Given the description of an element on the screen output the (x, y) to click on. 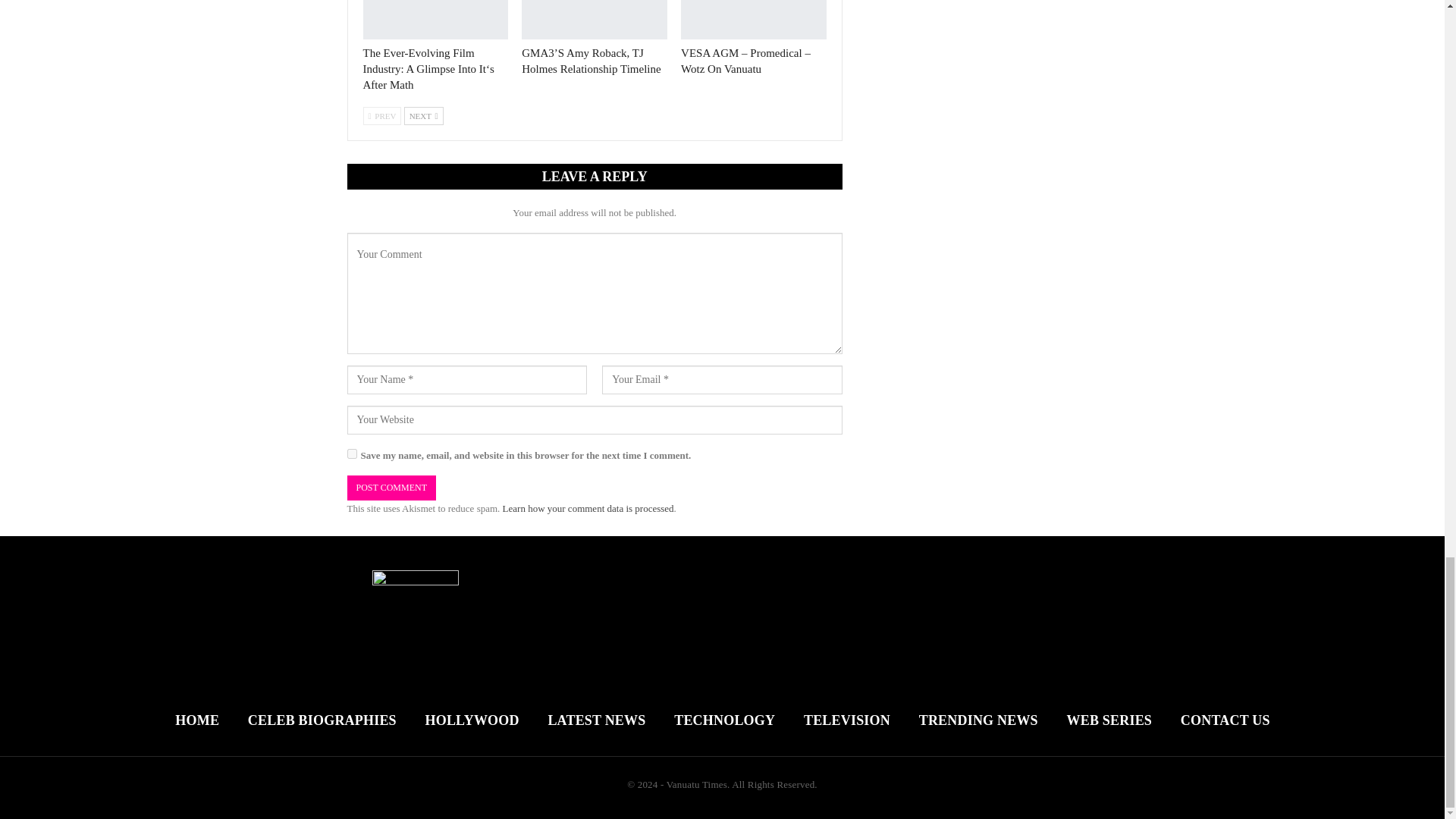
Post Comment (391, 487)
yes (351, 453)
